Given the description of an element on the screen output the (x, y) to click on. 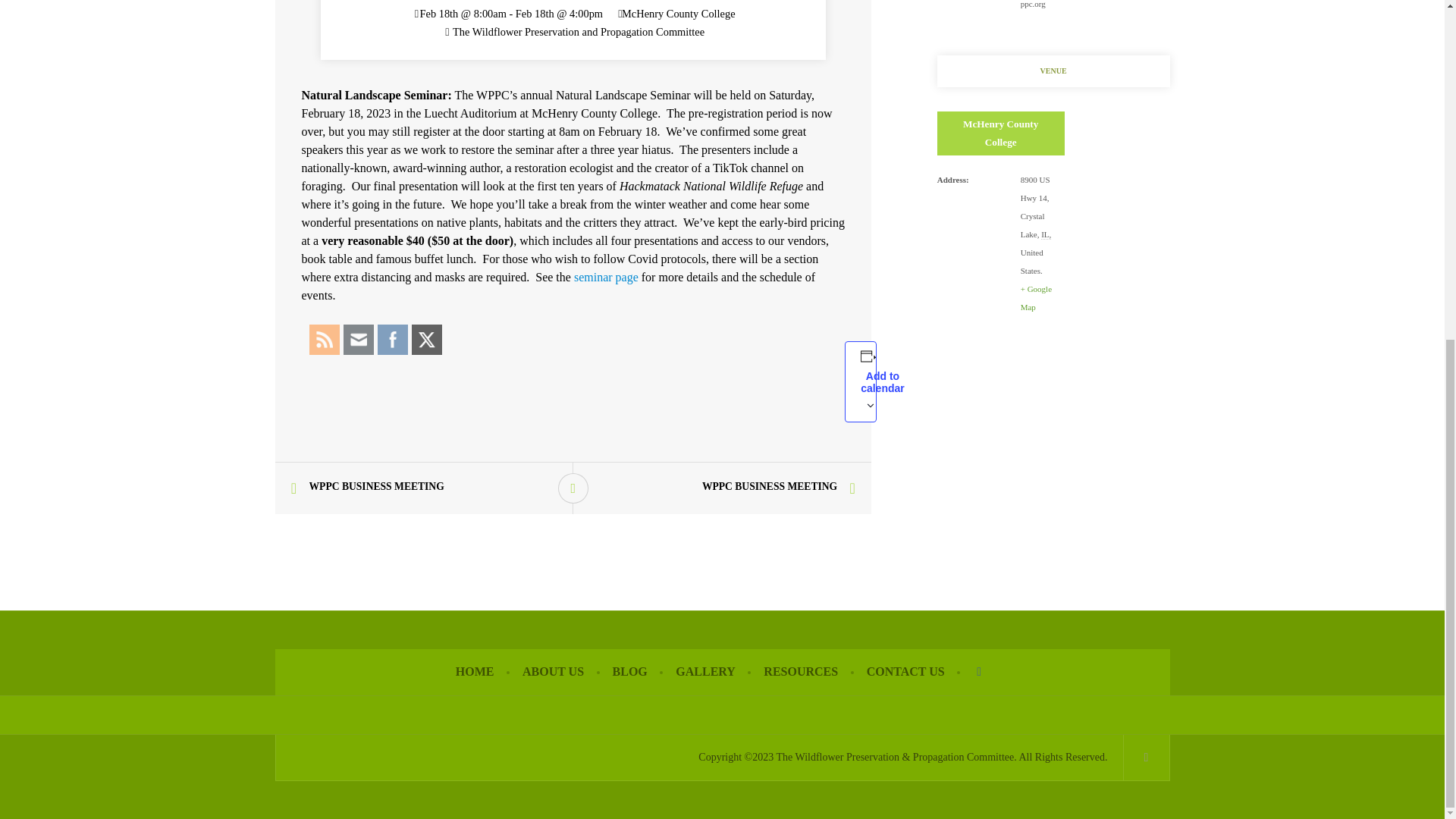
EMAIL (358, 339)
RSS (323, 339)
Illinois (1046, 234)
Click to view a Google Map (1035, 298)
Facebook (392, 339)
TWITTER (427, 339)
